Given the description of an element on the screen output the (x, y) to click on. 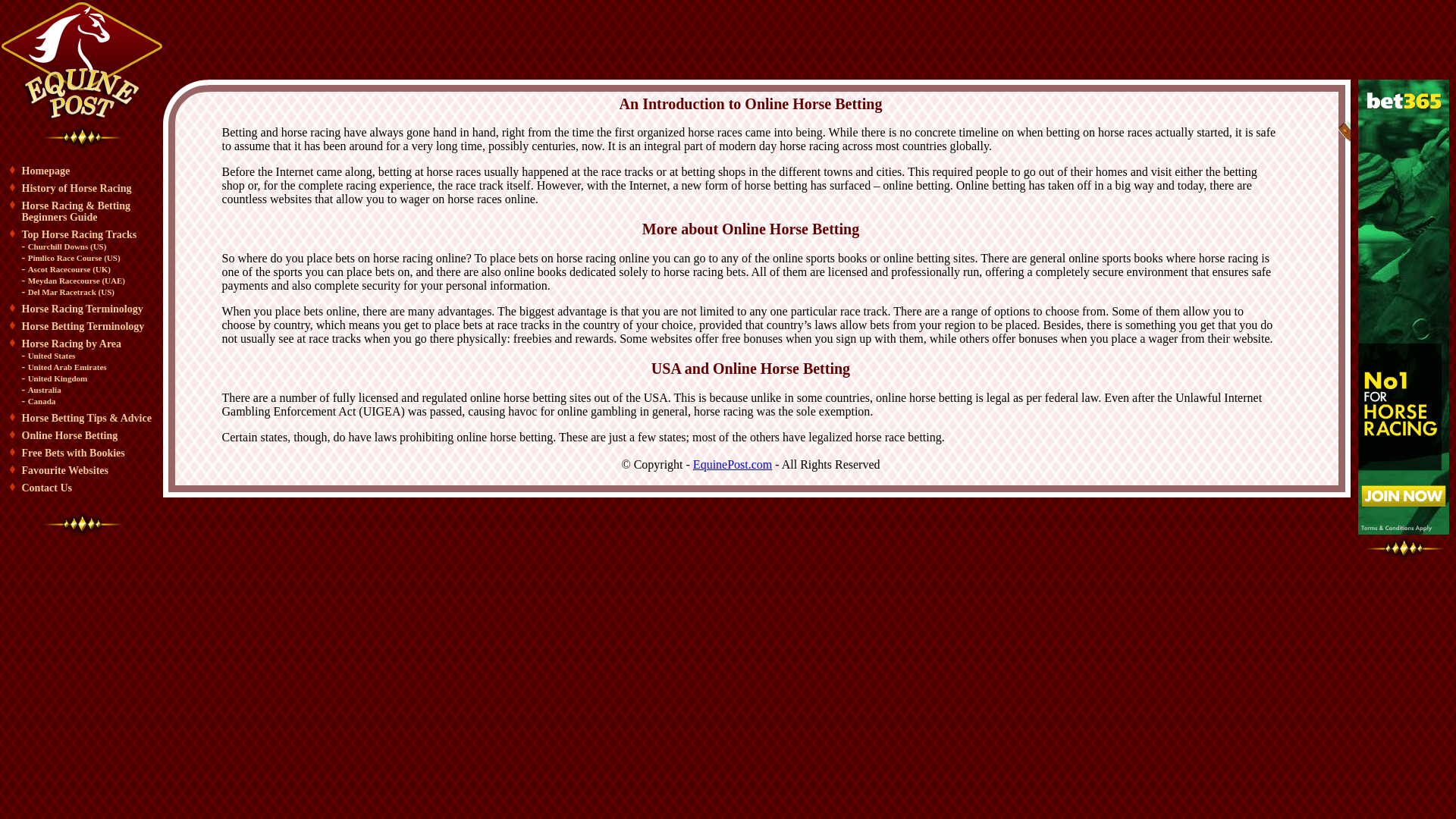
Horse Racing by Area (70, 343)
United States (51, 355)
Horse Racing Terminology (81, 308)
Top Horse Racing Tracks (78, 234)
Australia (44, 388)
United Kingdom (57, 378)
Contact Us (46, 487)
Favourite Websites (64, 470)
Online Horse Betting (69, 435)
Free Bets with Bookies (72, 452)
